Given the description of an element on the screen output the (x, y) to click on. 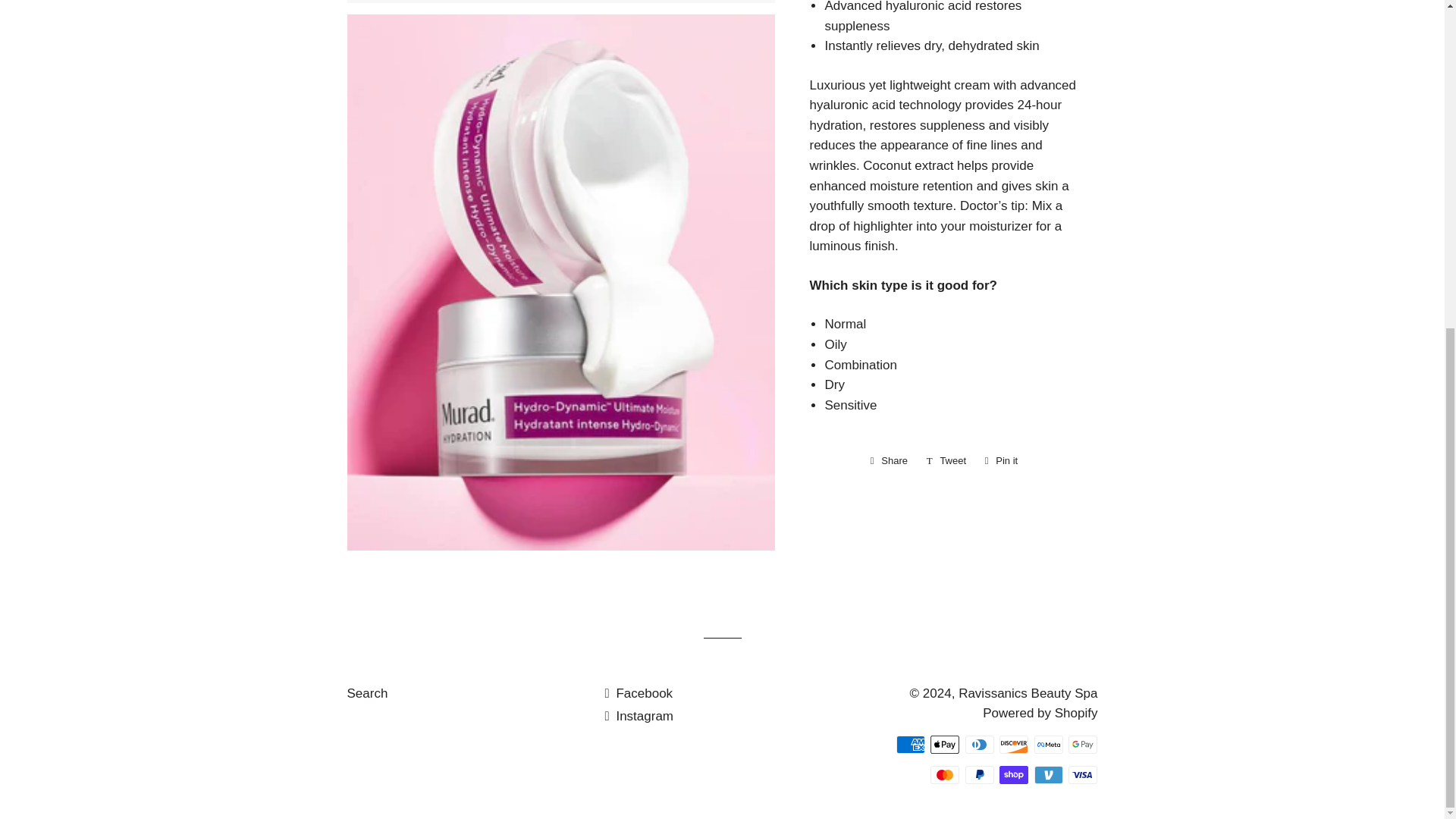
Meta Pay (1047, 744)
Ravissanics Beauty Spa on Facebook (638, 693)
American Express (910, 744)
PayPal (979, 774)
Tweet on Twitter (946, 460)
Mastercard (944, 774)
Diners Club (979, 744)
Google Pay (1082, 744)
Visa (1082, 774)
Discover (1012, 744)
